Given the description of an element on the screen output the (x, y) to click on. 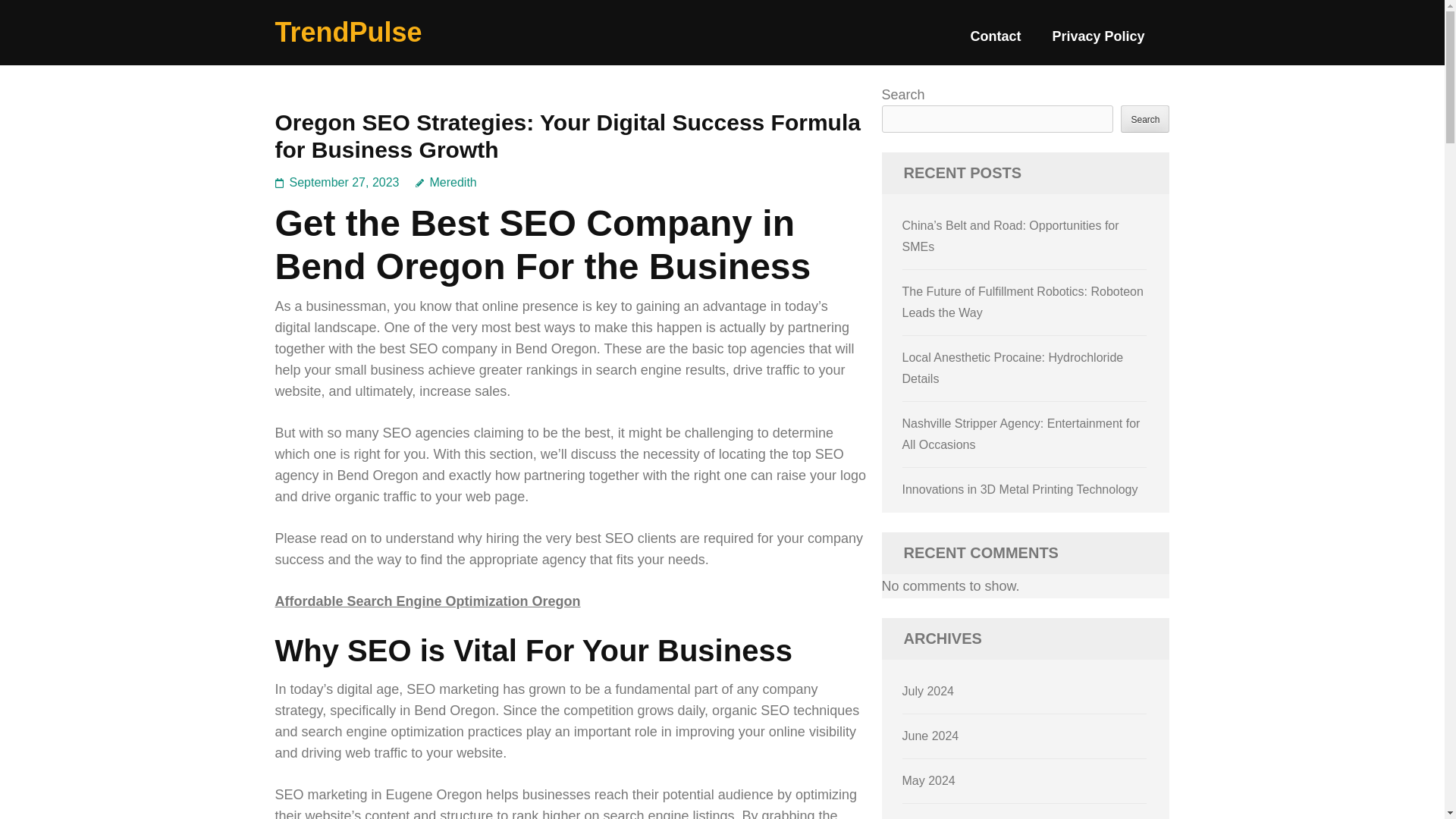
May 2024 (928, 780)
Innovations in 3D Metal Printing Technology (1020, 489)
Contact (994, 42)
Affordable Search Engine Optimization Oregon (427, 601)
Nashville Stripper Agency: Entertainment for All Occasions (1021, 433)
Local Anesthetic Procaine: Hydrochloride Details (1013, 367)
July 2024 (928, 690)
The Future of Fulfillment Robotics: Roboteon Leads the Way (1022, 302)
Privacy Policy (1097, 42)
September 27, 2023 (343, 182)
June 2024 (930, 735)
Search (1145, 118)
TrendPulse (348, 31)
Meredith (445, 182)
